Given the description of an element on the screen output the (x, y) to click on. 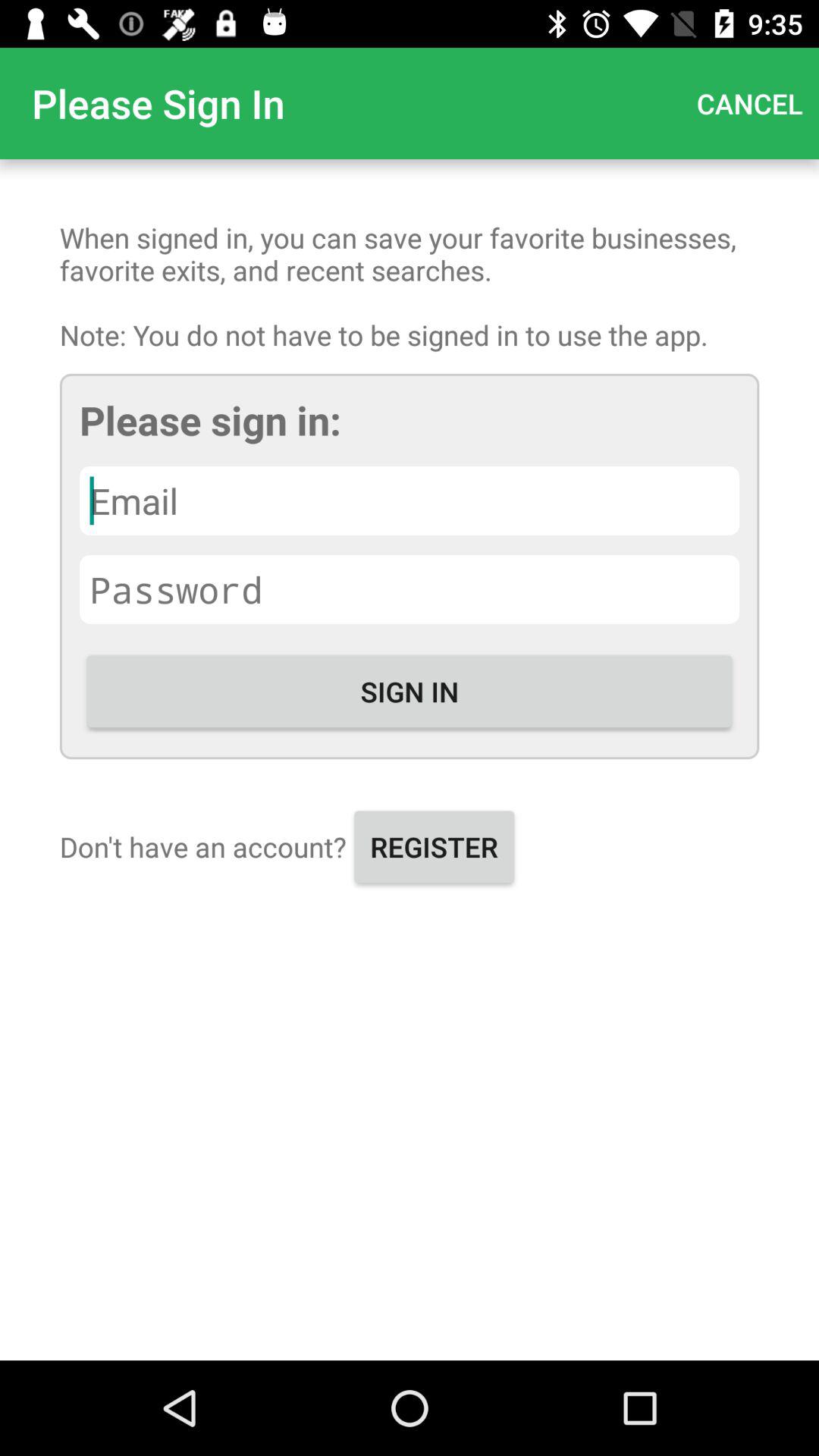
open the app next to please sign in item (749, 103)
